Given the description of an element on the screen output the (x, y) to click on. 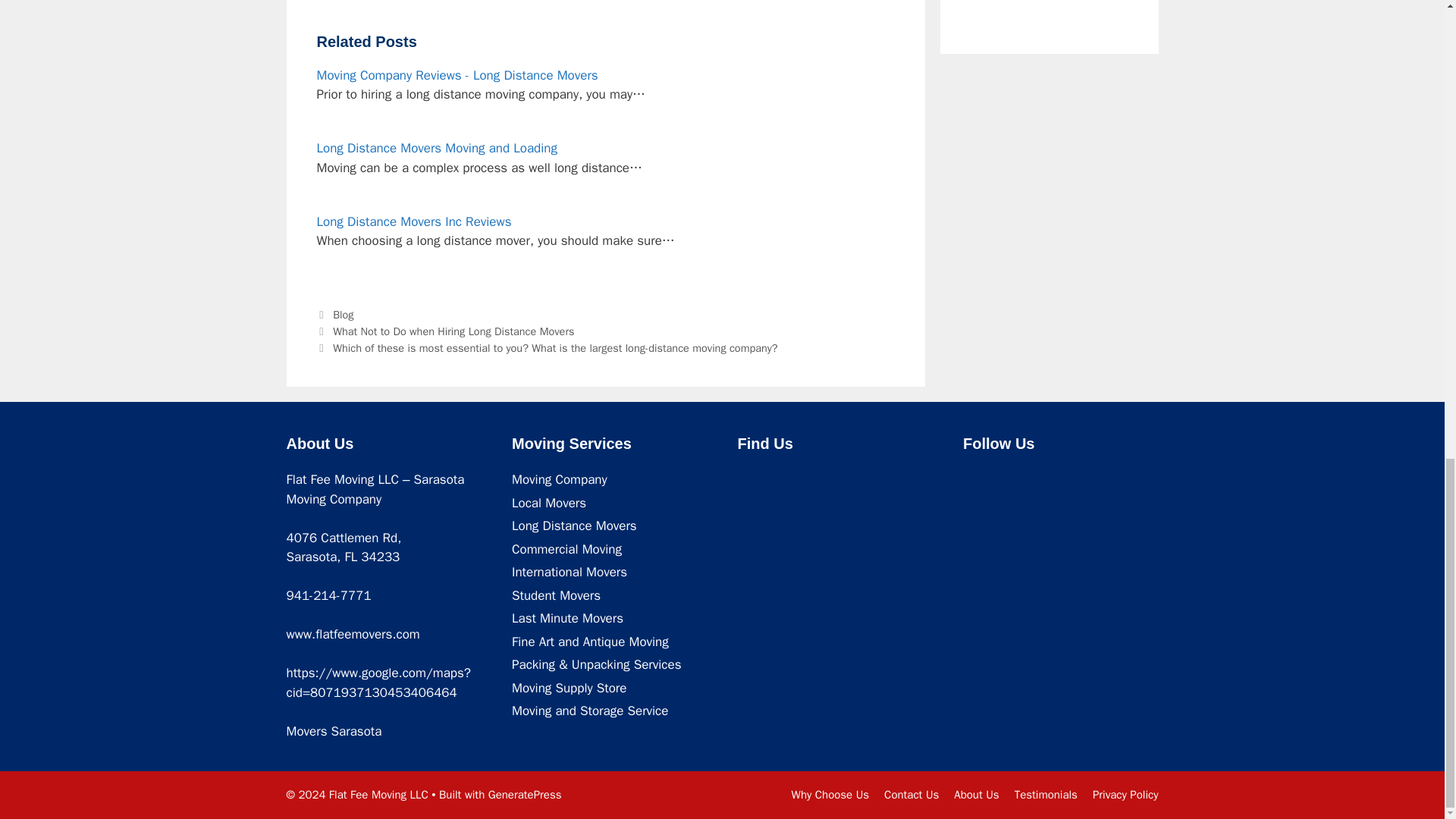
Moving Company Reviews - Long Distance Movers (457, 75)
Long Distance Movers Moving and Loading (437, 148)
Long Distance Movers Inc Reviews (414, 221)
Scroll back to top (1406, 487)
What Not to Do when Hiring Long Distance Movers (453, 331)
Blog (343, 314)
